Given the description of an element on the screen output the (x, y) to click on. 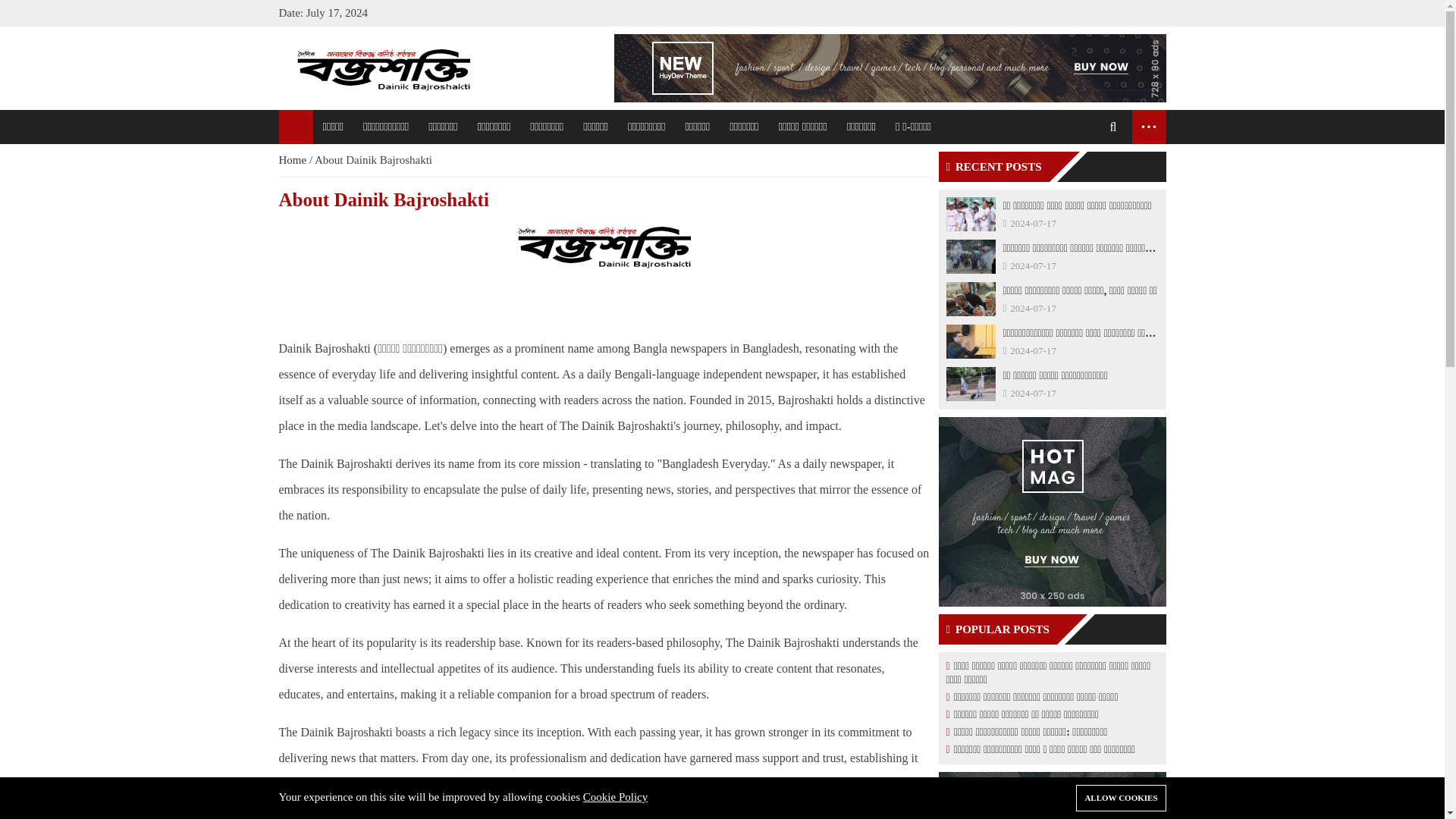
Home (293, 159)
Home (293, 159)
